Given the description of an element on the screen output the (x, y) to click on. 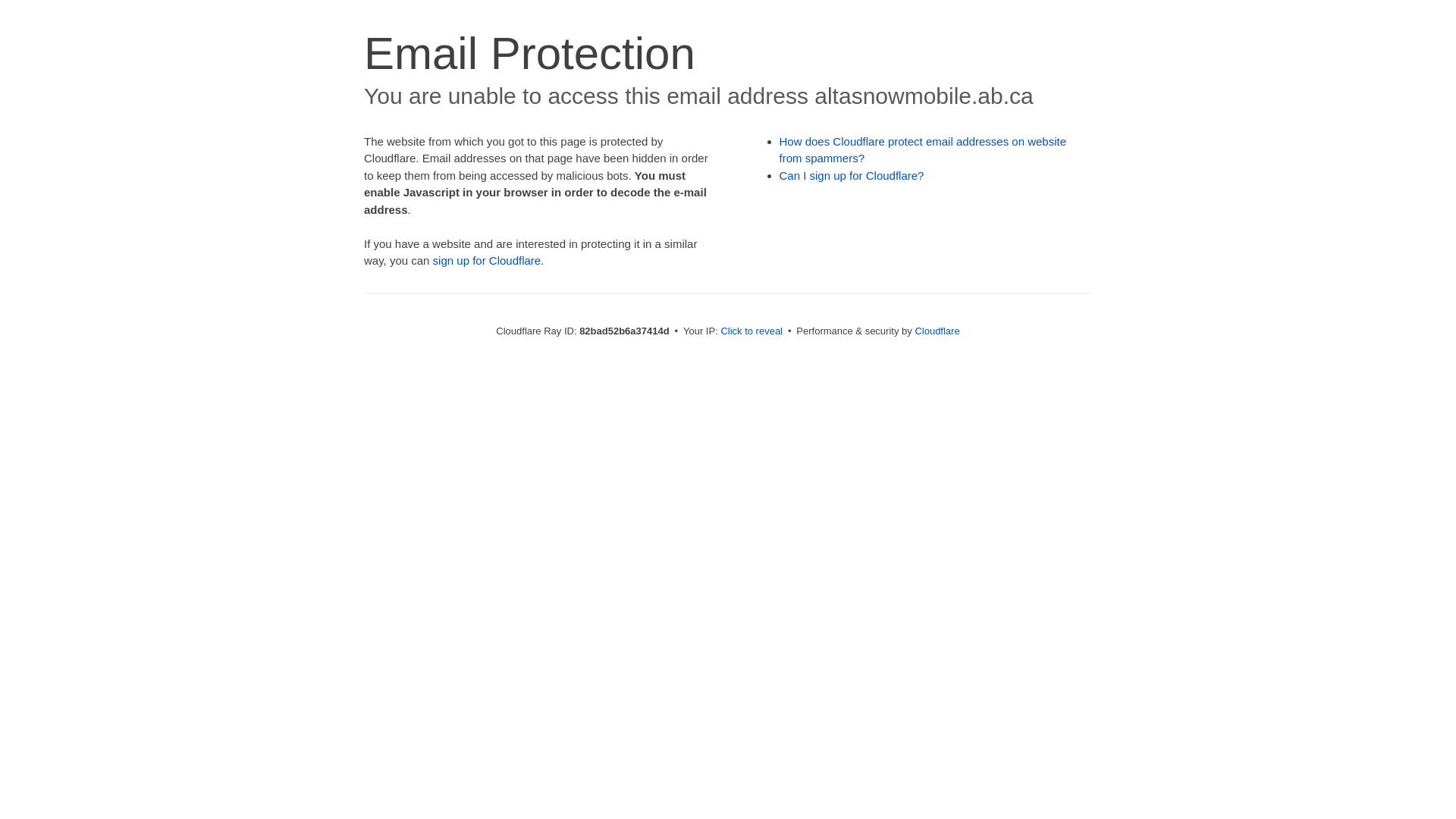
sign up for Cloudflare Element type: text (487, 260)
Cloudflare Element type: text (936, 330)
Click to reveal Element type: text (751, 330)
Can I sign up for Cloudflare? Element type: text (851, 175)
